Given the description of an element on the screen output the (x, y) to click on. 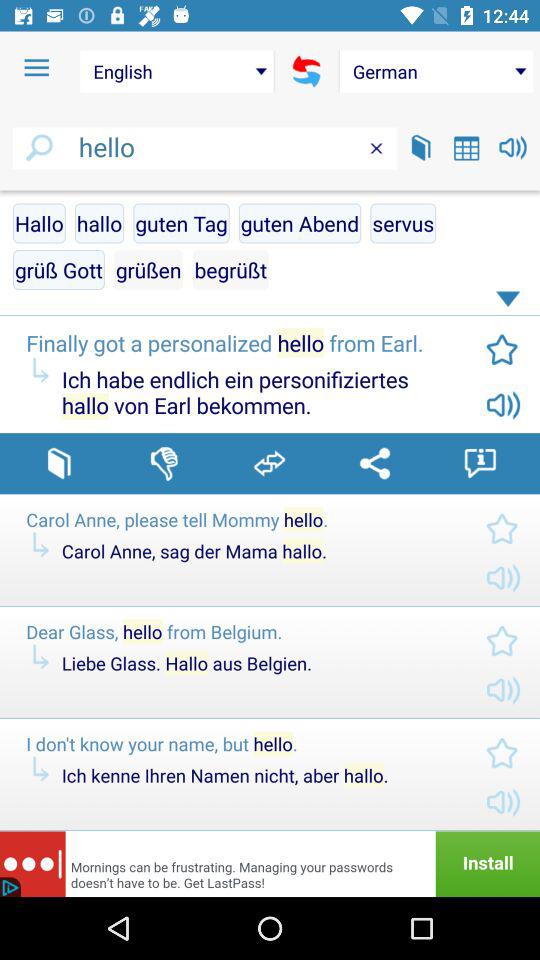
open the item next to the guten abend icon (403, 223)
